Given the description of an element on the screen output the (x, y) to click on. 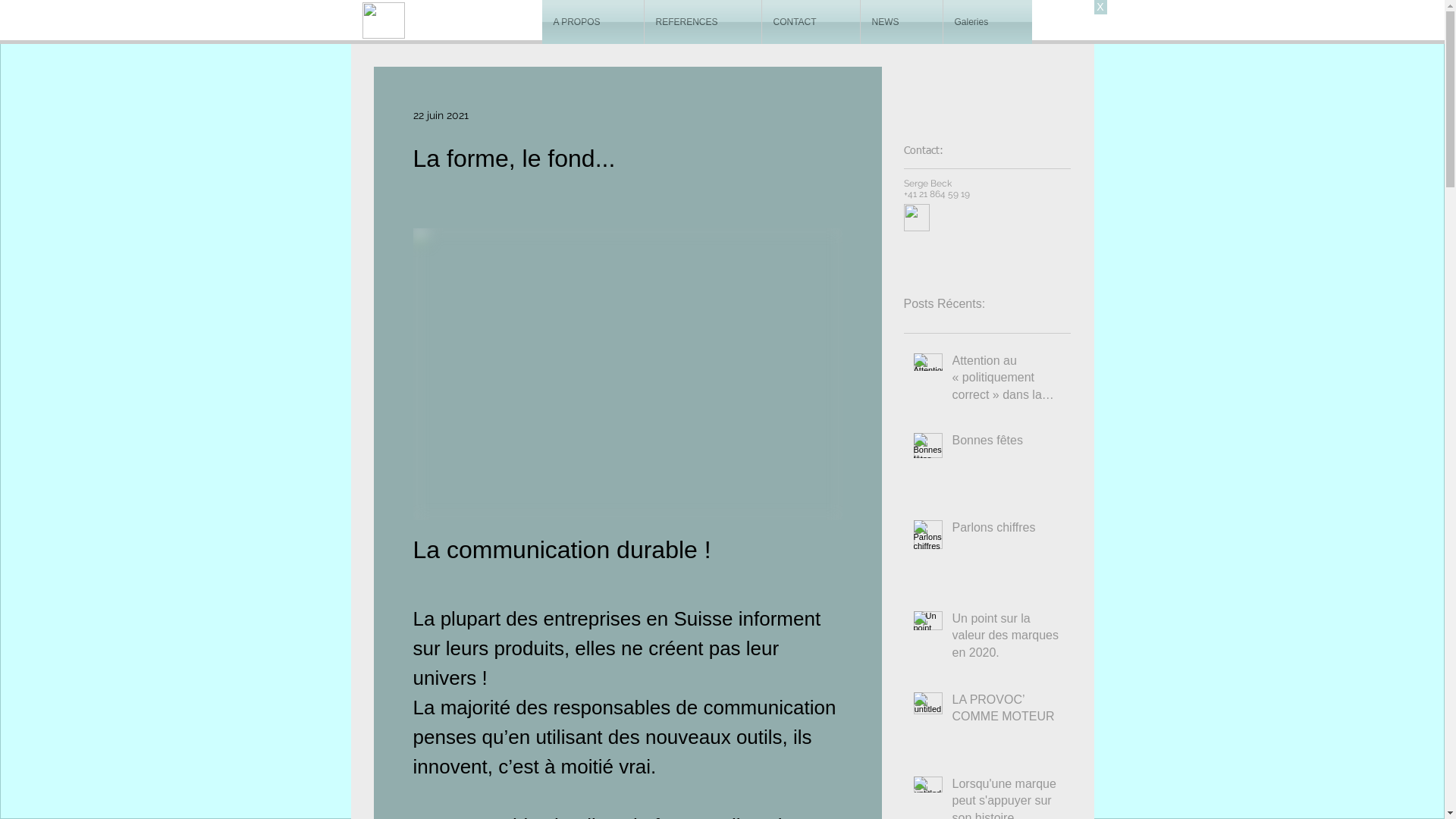
X Element type: text (1099, 7)
Un point sur la valeur des marques en 2020. Element type: text (1006, 638)
NEWS Element type: text (900, 21)
Galeries Element type: text (987, 21)
CONTACT Element type: text (810, 21)
Parlons chiffres Element type: text (1006, 530)
